Given the description of an element on the screen output the (x, y) to click on. 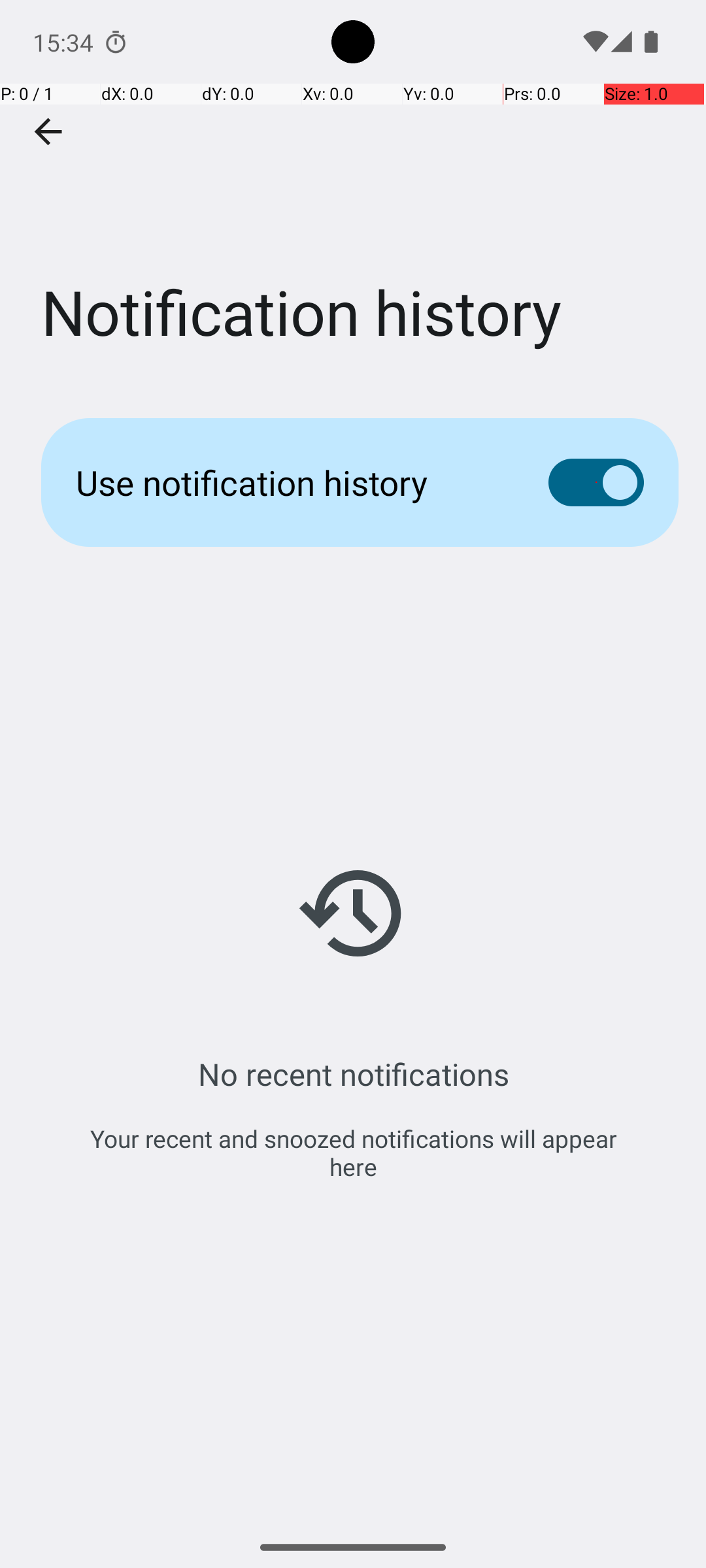
No recent notifications Element type: android.widget.TextView (352, 1073)
Your recent and snoozed notifications will appear here Element type: android.widget.TextView (352, 1152)
